Given the description of an element on the screen output the (x, y) to click on. 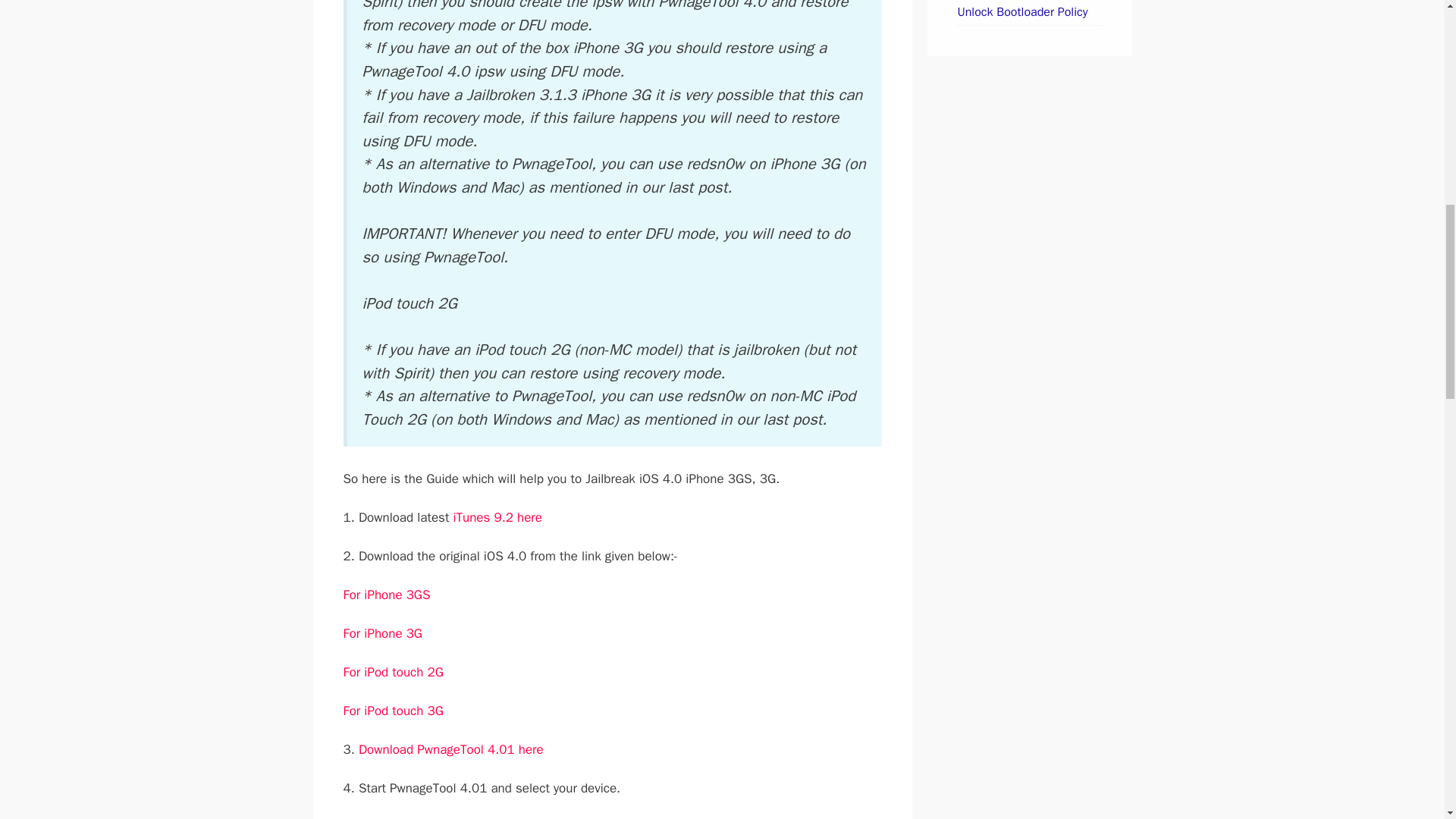
For iPod touch 2G (392, 672)
Download PwnageTool 4.01 here (450, 749)
For iPhone 3GS (385, 594)
For iPhone 3G (382, 633)
For iPod touch 3G (392, 710)
iTunes 9.2 here (496, 517)
